Given the description of an element on the screen output the (x, y) to click on. 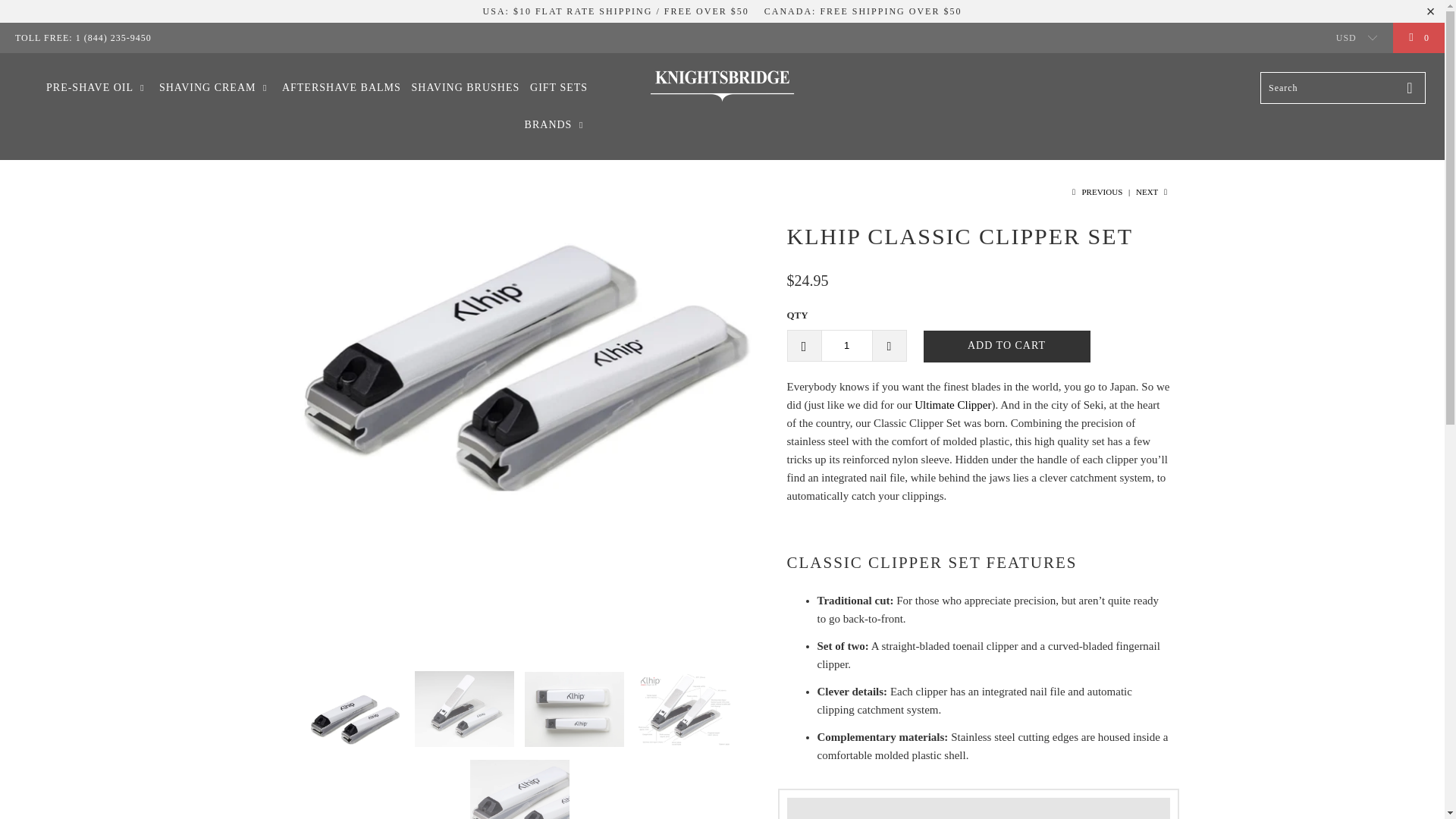
KnightsbridgeShaving (722, 85)
1 (846, 345)
Next (1152, 191)
Previous (1095, 191)
